Given the description of an element on the screen output the (x, y) to click on. 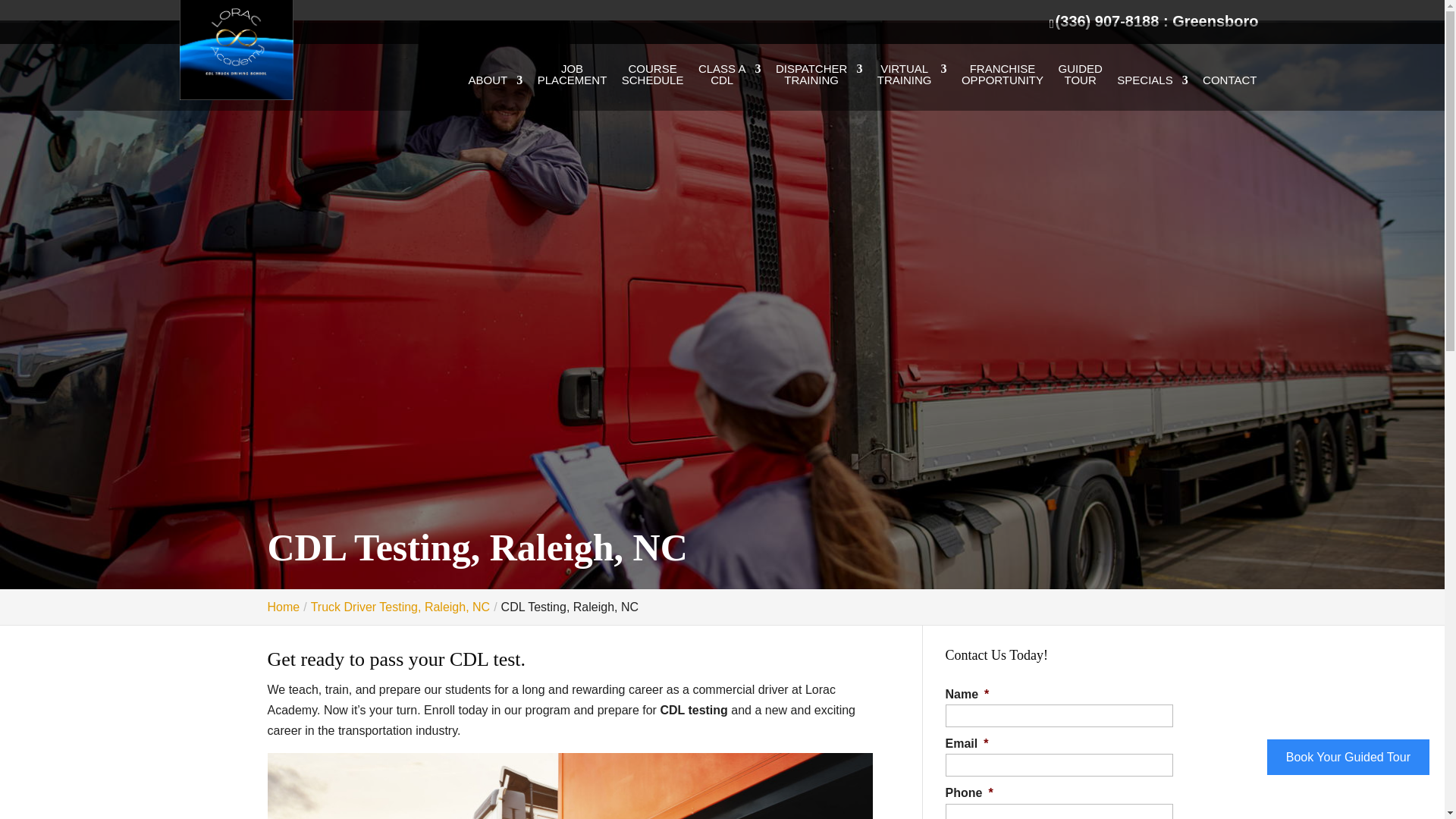
Truck Driver Testing, Raleigh, NC (400, 606)
CONTACT (818, 86)
SPECIALS (652, 86)
Go to Lorac Academy. (1229, 92)
